Given the description of an element on the screen output the (x, y) to click on. 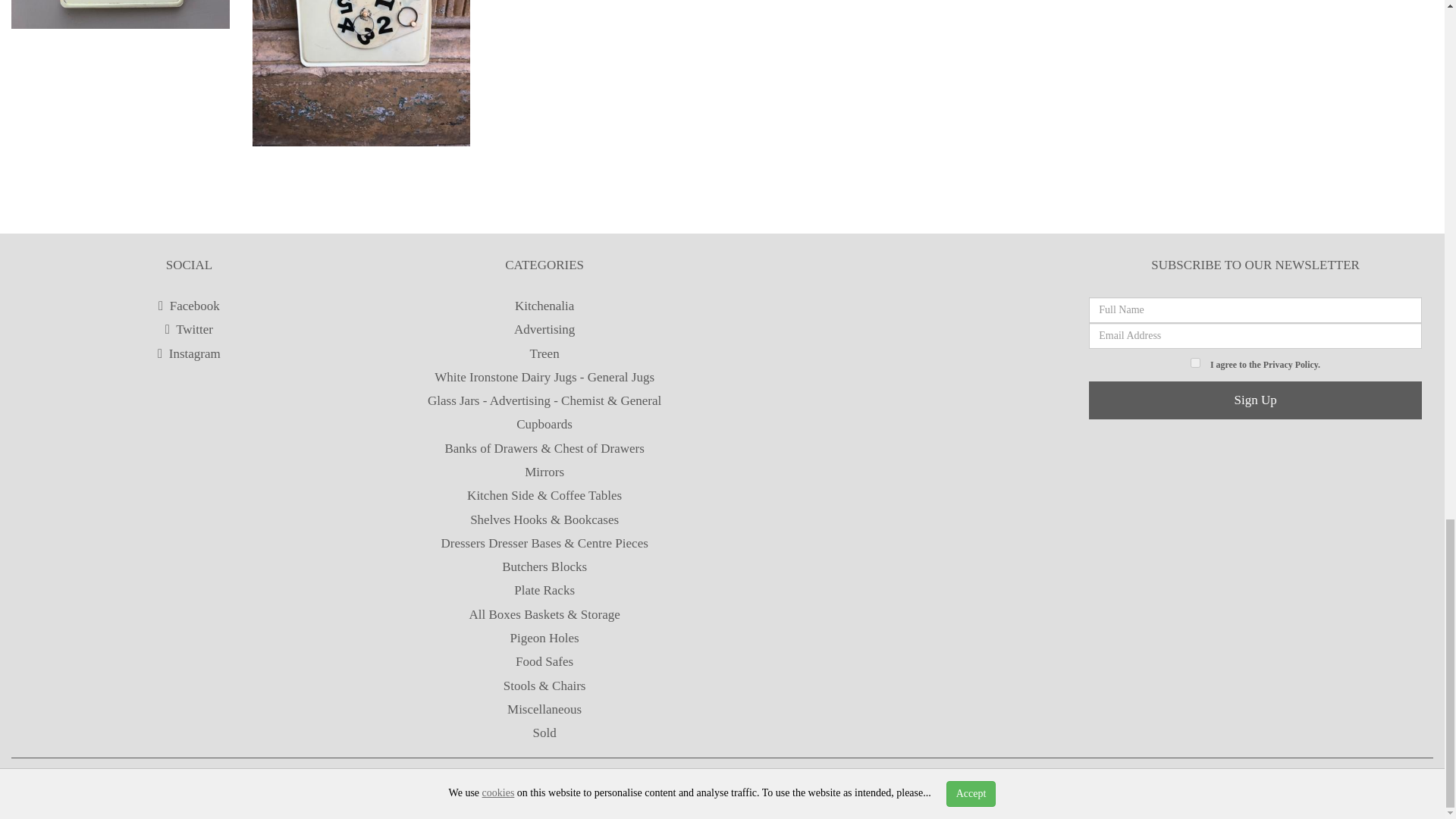
Cupboards (544, 423)
Pigeon Holes (545, 637)
White Ironstone Dairy Jugs - General Jugs (543, 377)
Treen (544, 353)
Butchers Blocks (544, 566)
Kitchenalia (544, 305)
Plate Racks (544, 590)
Mirrors (544, 472)
on (1195, 362)
  Instagram (189, 353)
  Facebook (188, 305)
Advertising (544, 329)
  Twitter (188, 329)
Food Safes (544, 661)
